Given the description of an element on the screen output the (x, y) to click on. 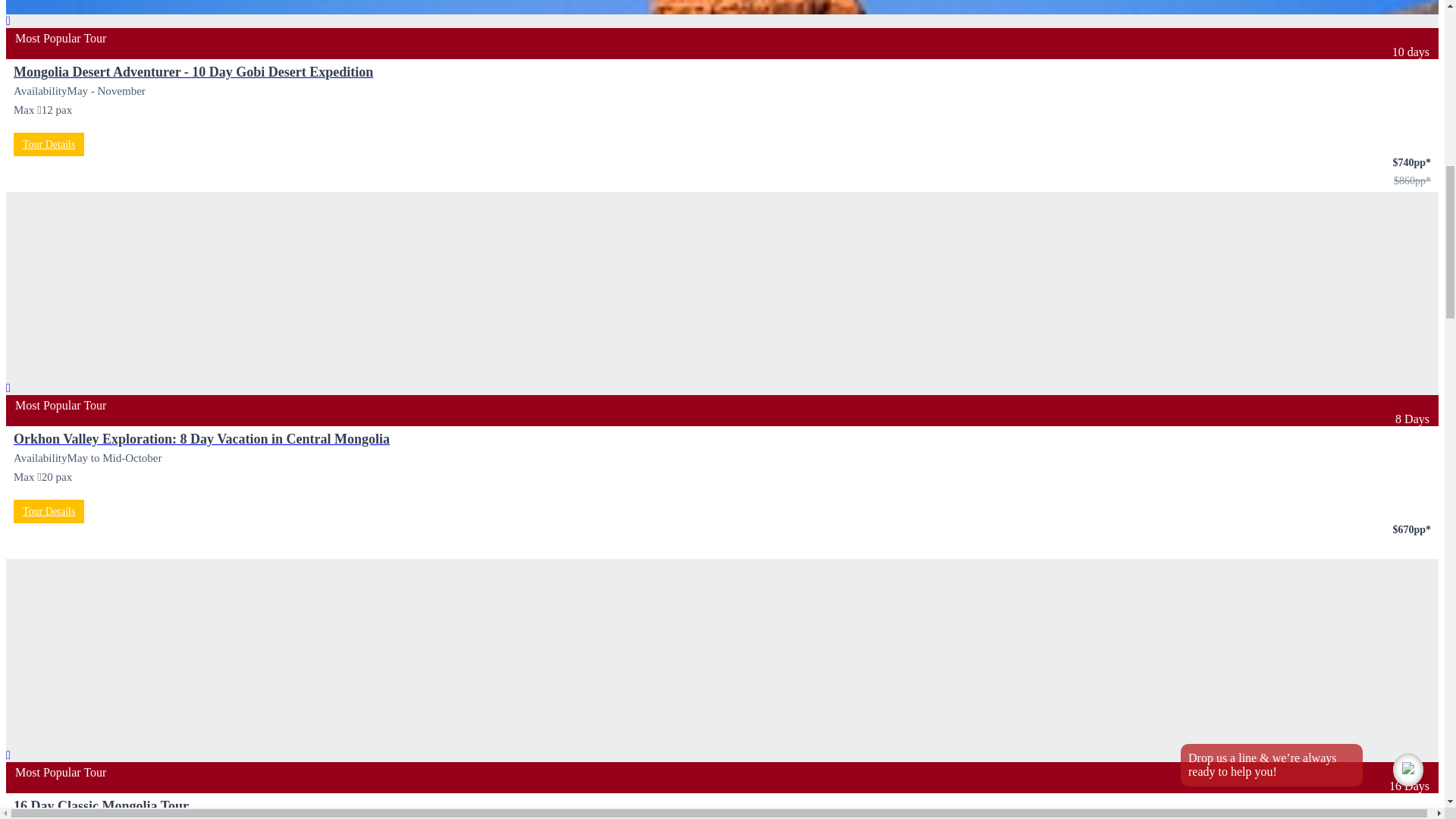
16 Day Classic Mongolia Tour (101, 806)
Tour Details (48, 511)
16 Day Classic Mongolia Tour (101, 806)
Mongolia Desert Adventurer - 10 Day Gobi Desert Expedition (192, 71)
Mongolia Desert Adventurer - 10 Day Gobi Desert Expedition (192, 71)
Tour Details (48, 144)
